Given the description of an element on the screen output the (x, y) to click on. 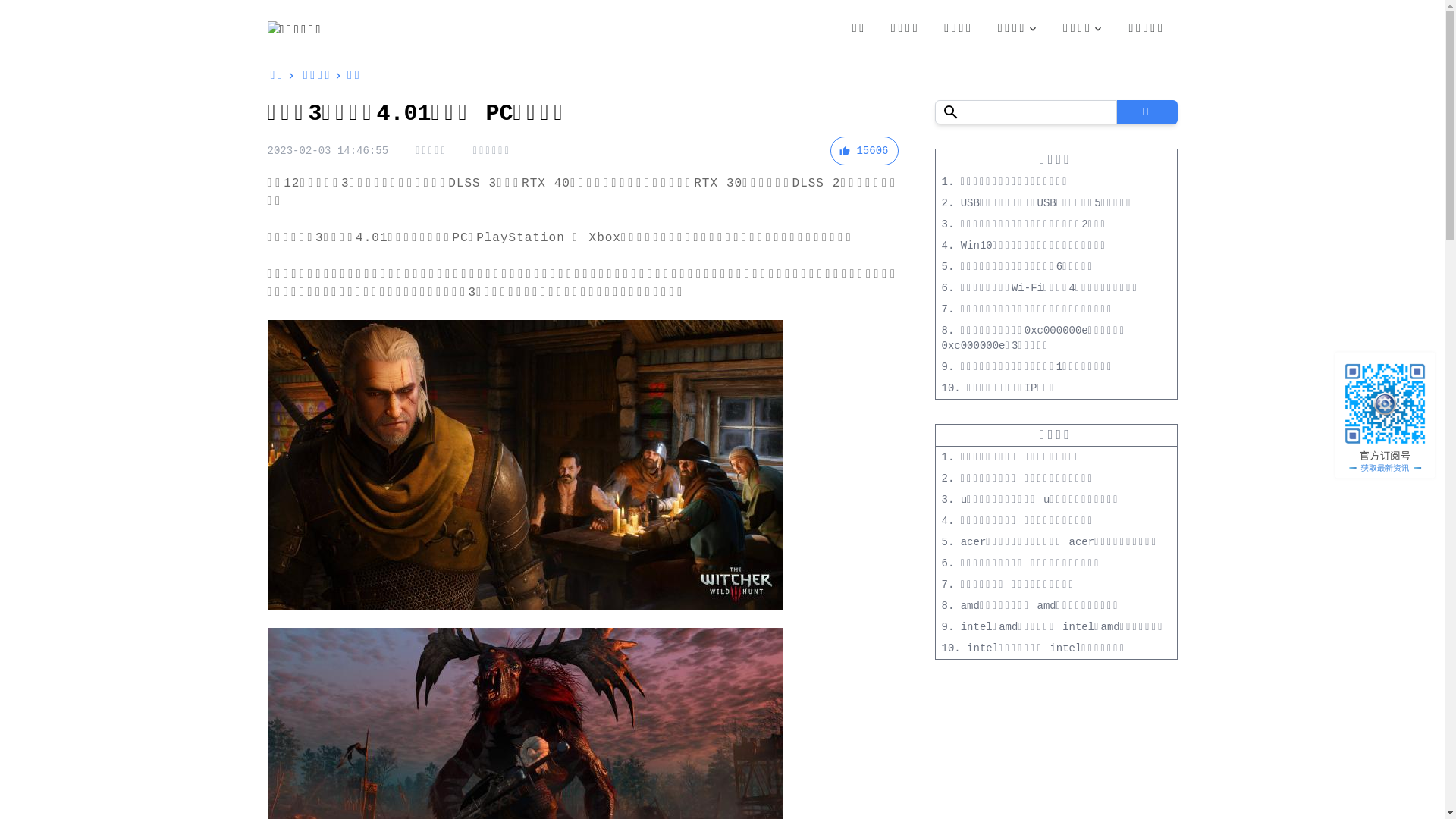
15606 Element type: text (863, 150)
